Given the description of an element on the screen output the (x, y) to click on. 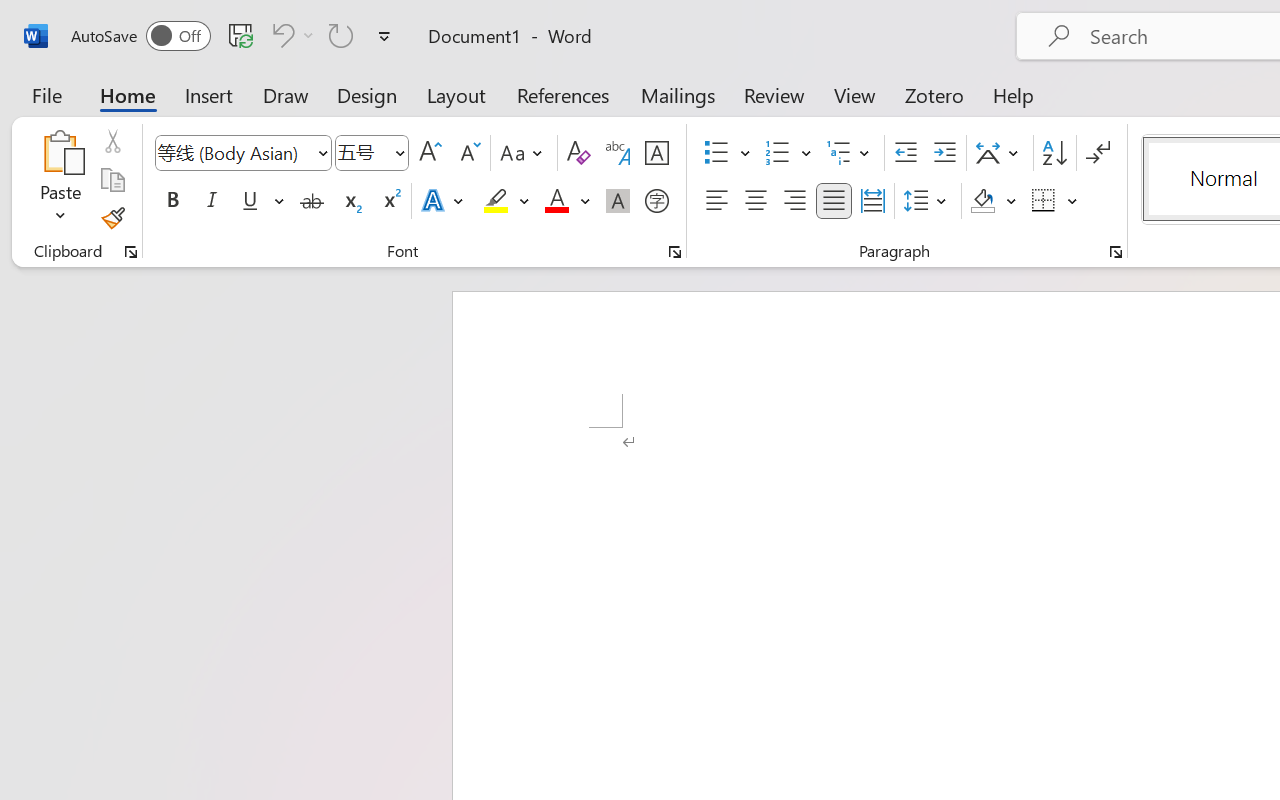
Can't Undo (290, 35)
Can't Undo (280, 35)
